Given the description of an element on the screen output the (x, y) to click on. 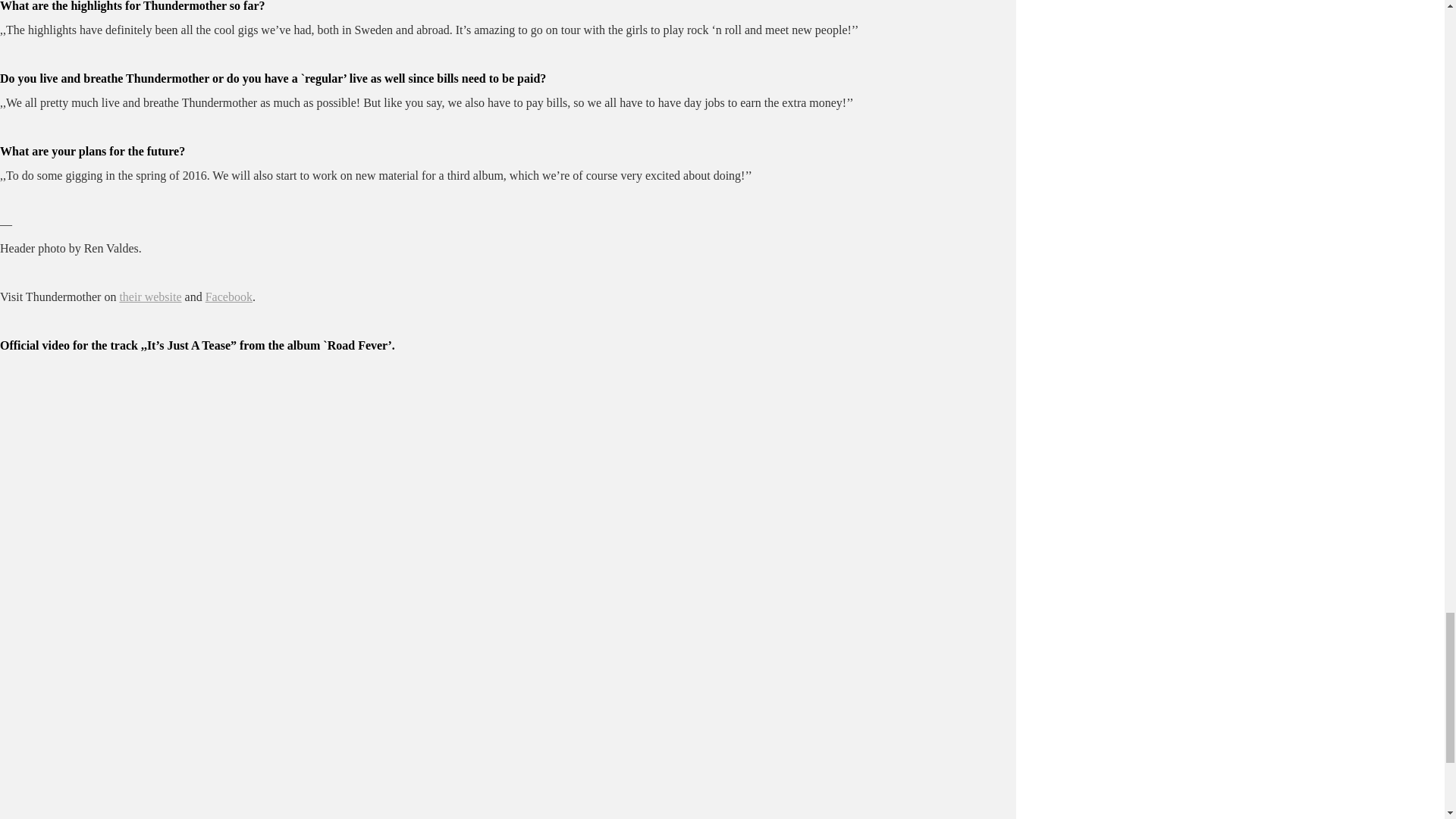
their website (149, 296)
Facebook (228, 296)
